Given the description of an element on the screen output the (x, y) to click on. 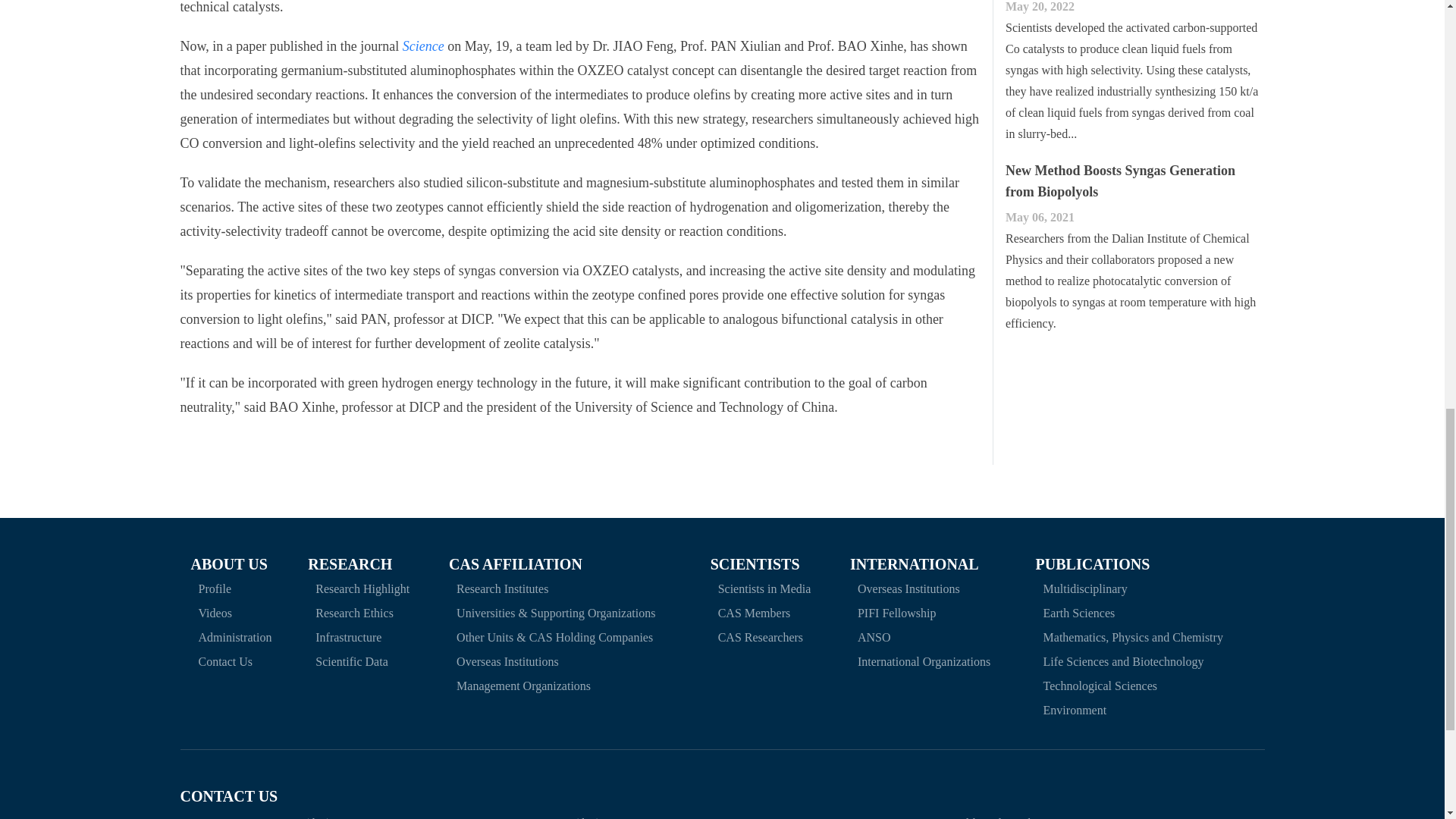
Science (423, 46)
